Given the description of an element on the screen output the (x, y) to click on. 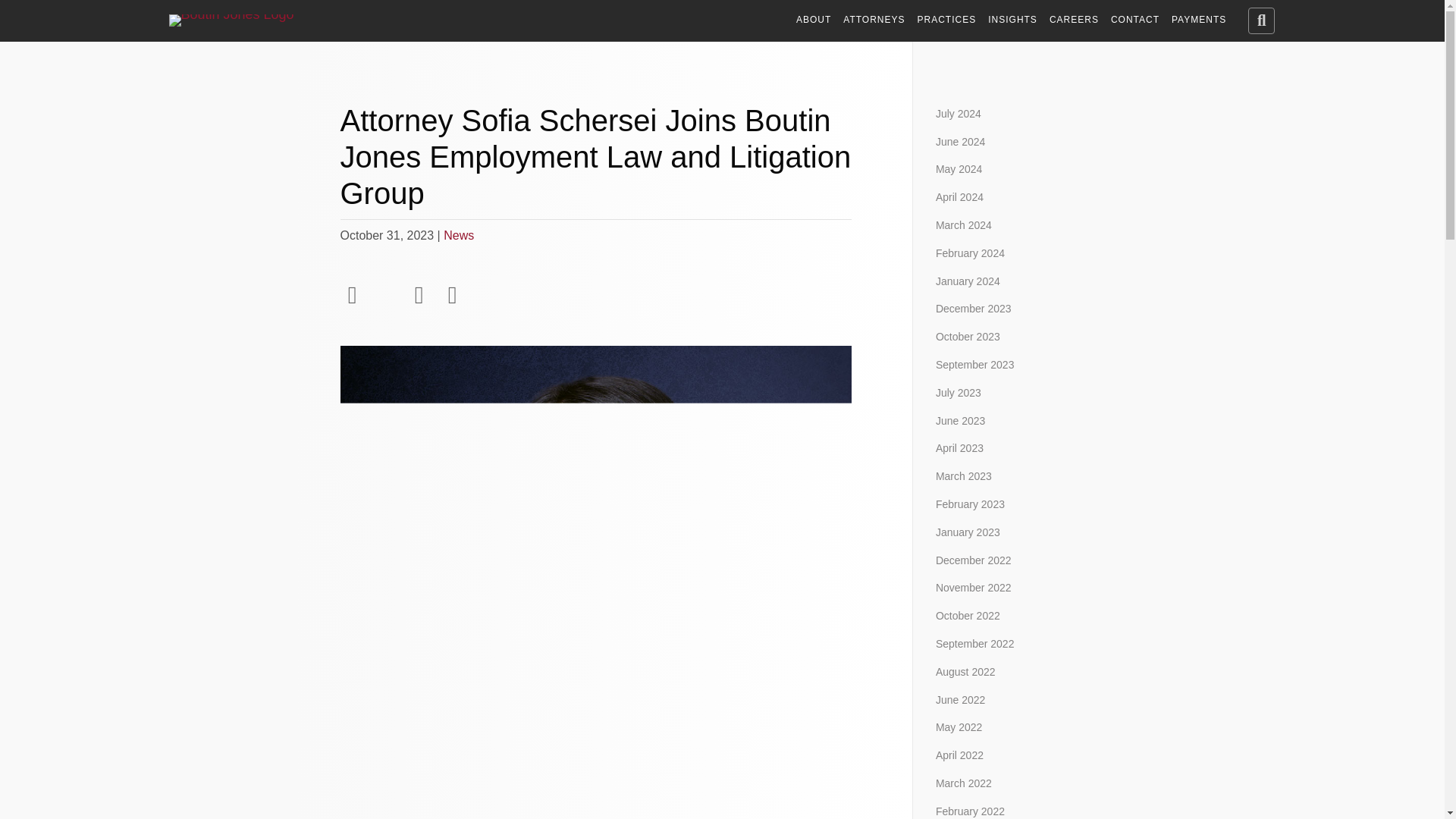
Boutin-Jones-Logo-White-sm (231, 20)
ABOUT (813, 19)
